Given the description of an element on the screen output the (x, y) to click on. 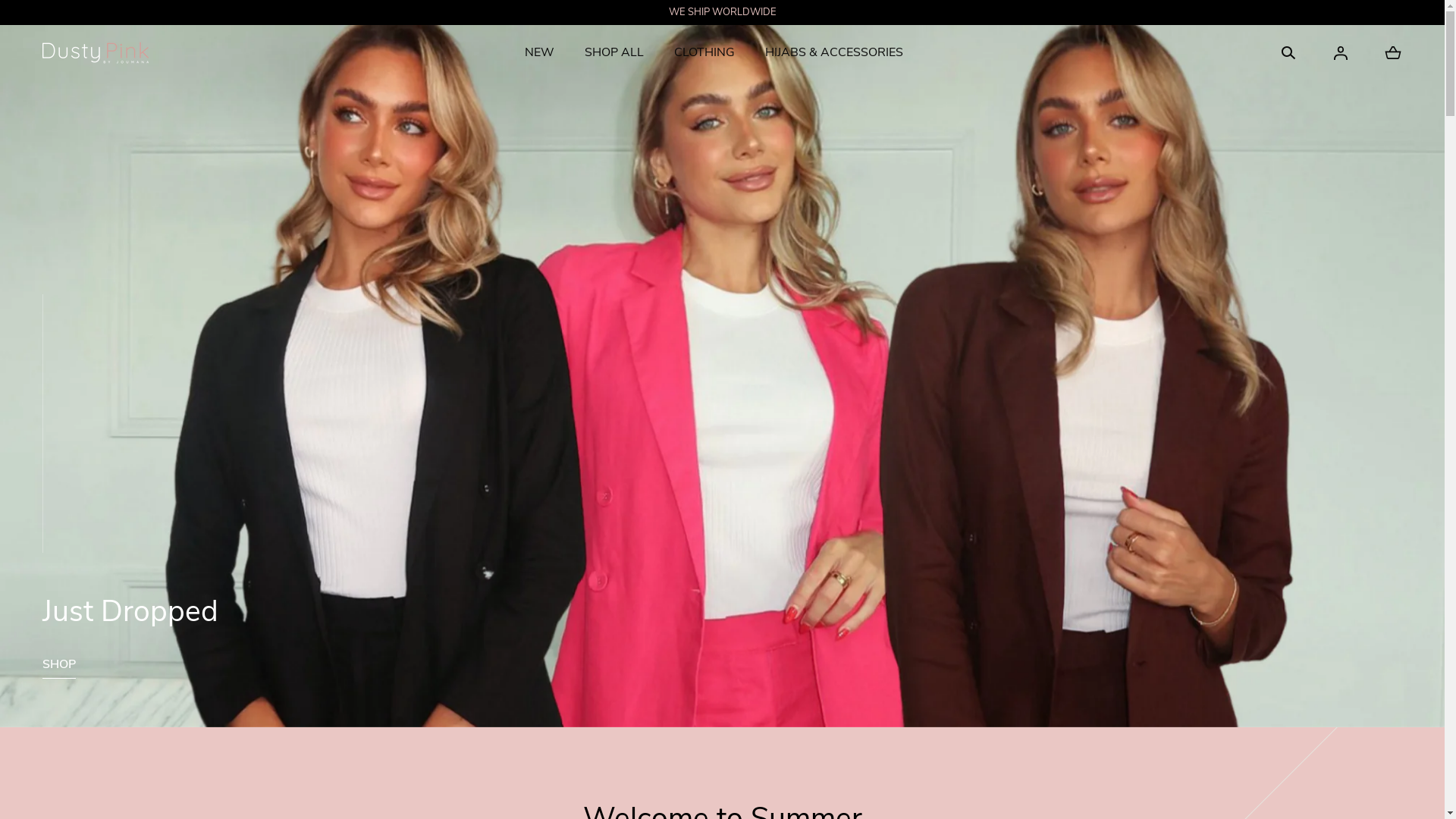
SHOP ALL Element type: text (613, 53)
Log in Element type: text (1340, 52)
NEW Element type: text (539, 53)
Cart
0 items Element type: text (1392, 52)
Dusty Pink Element type: hover (95, 53)
CLOTHING Element type: text (704, 53)
<p>WE SHIP WORLDWIDE</p> Element type: hover (722, 12)
SHOP Element type: text (58, 666)
HIJABS & ACCESSORIES Element type: text (834, 53)
